Given the description of an element on the screen output the (x, y) to click on. 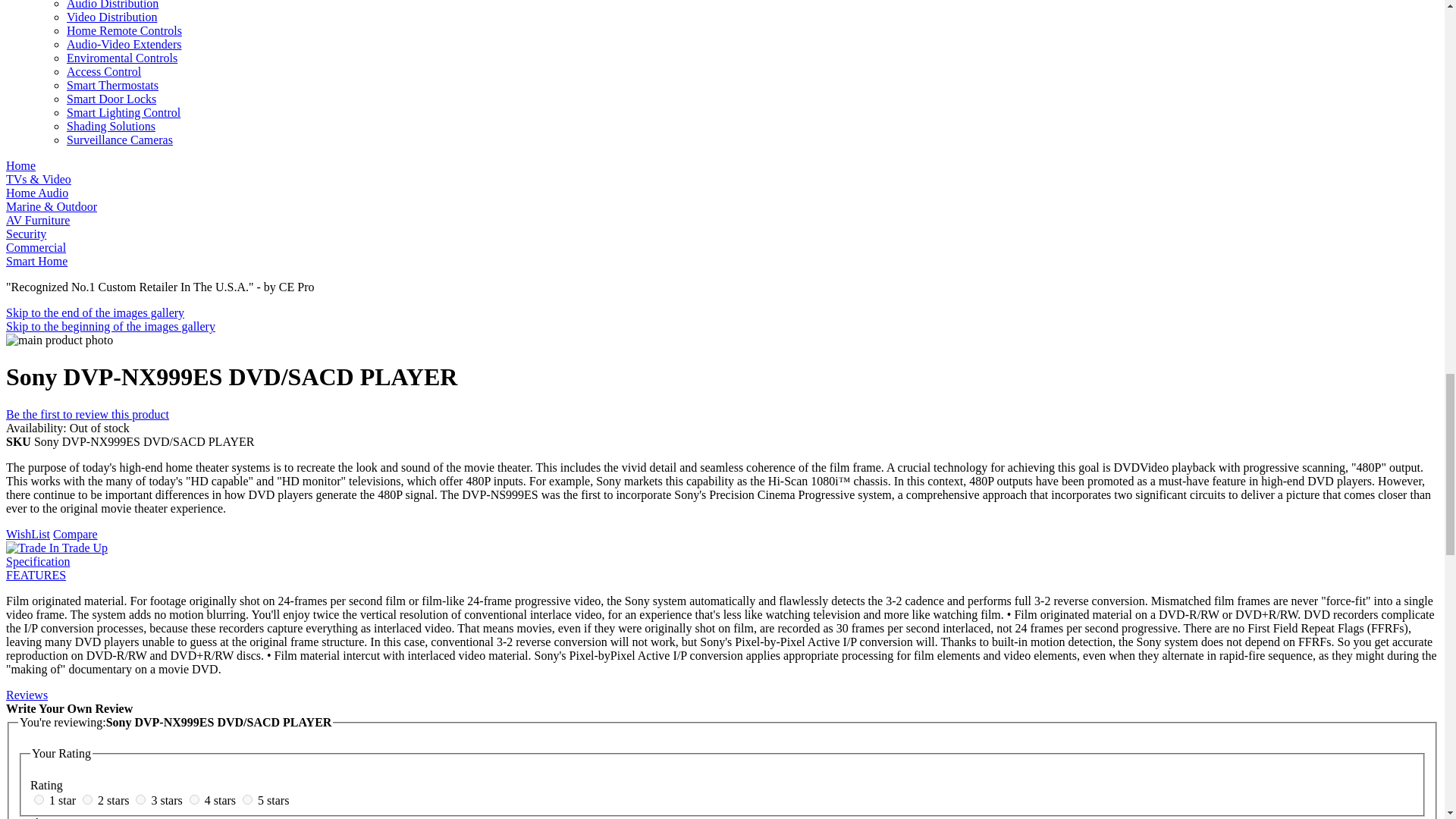
17 (87, 799)
19 (194, 799)
20 (247, 799)
1 star (63, 799)
2 stars (114, 799)
5 stars (272, 799)
16 (38, 799)
18 (140, 799)
4 stars (221, 799)
3 stars (167, 799)
